Given the description of an element on the screen output the (x, y) to click on. 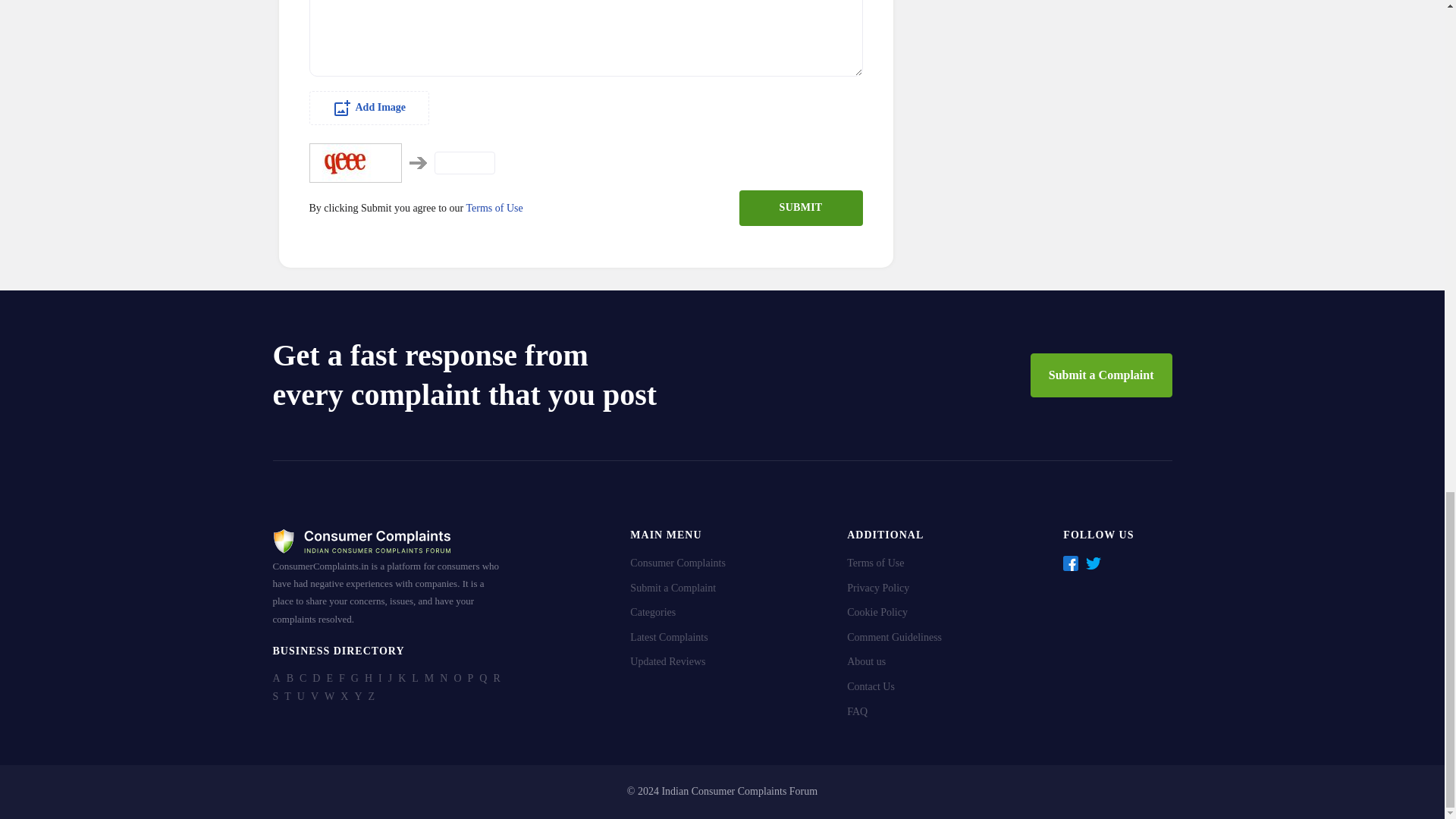
Submit a Complaint (1101, 374)
Terms of Use (493, 207)
